Given the description of an element on the screen output the (x, y) to click on. 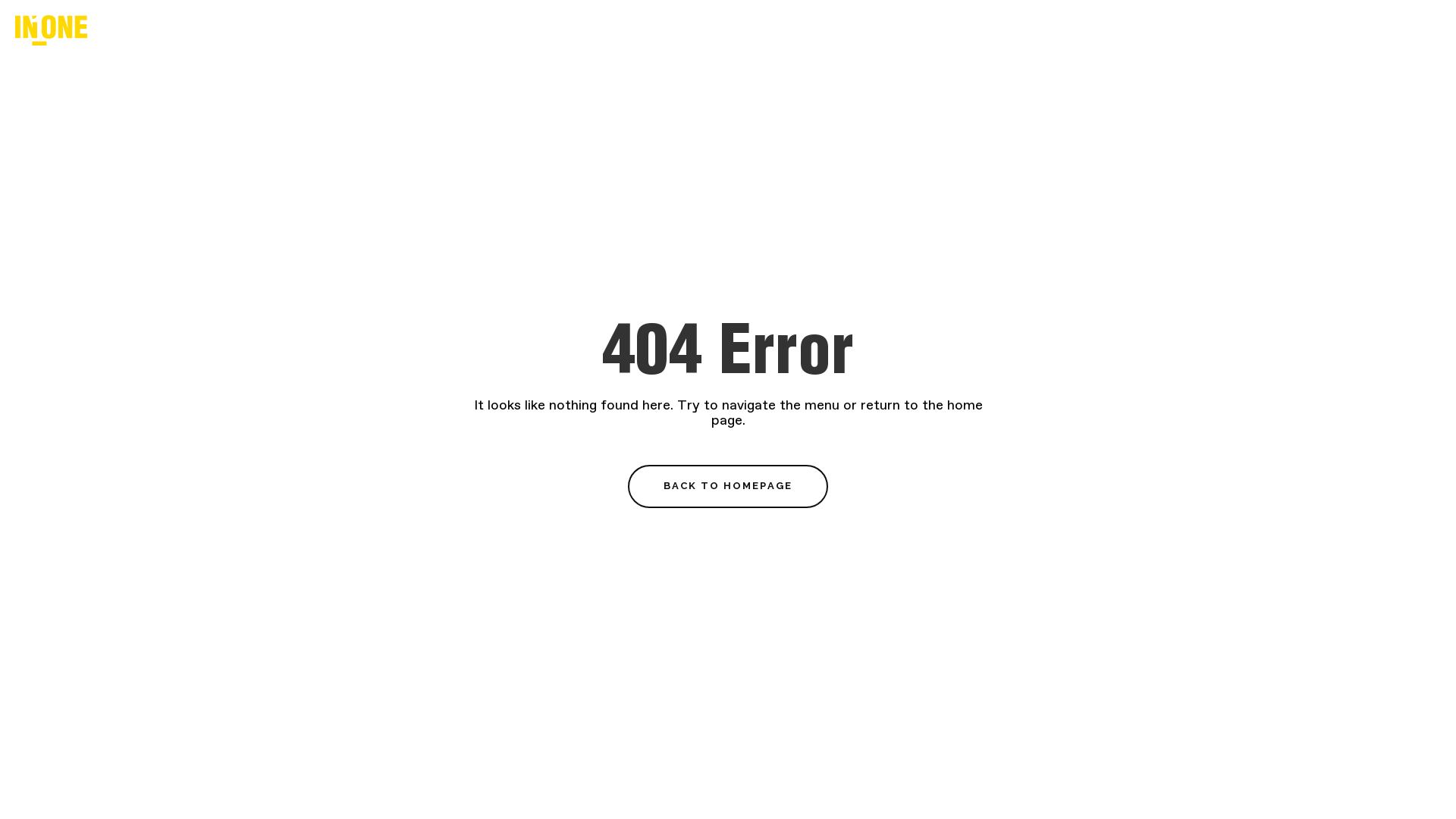
BACK TO HOMEPAGE Element type: text (727, 486)
